Given the description of an element on the screen output the (x, y) to click on. 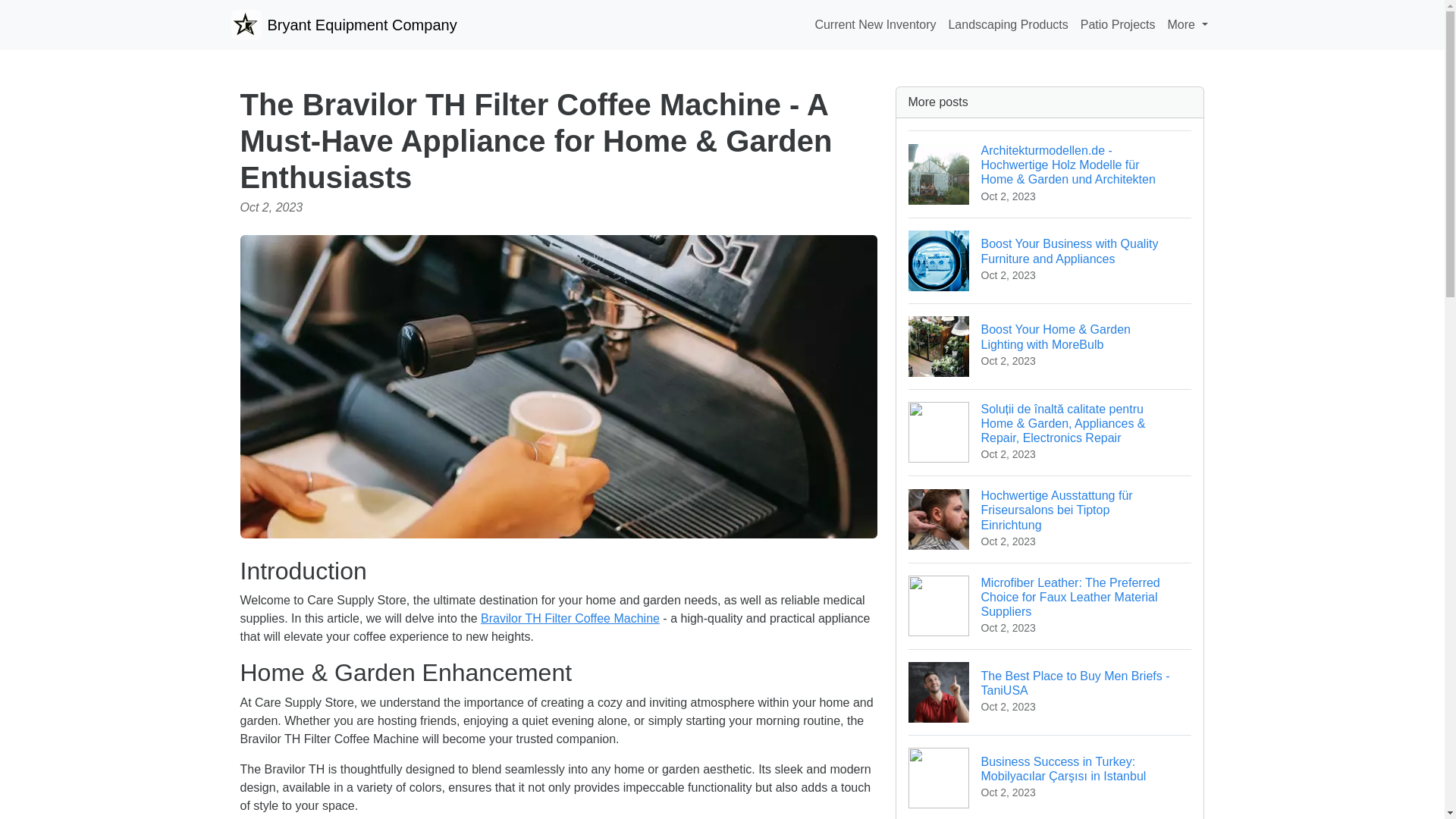
Current New Inventory (875, 24)
More (1050, 691)
Landscaping Products (1187, 24)
Bryant Equipment Company (1008, 24)
Patio Projects (343, 24)
Bravilor TH Filter Coffee Machine (1117, 24)
